Given the description of an element on the screen output the (x, y) to click on. 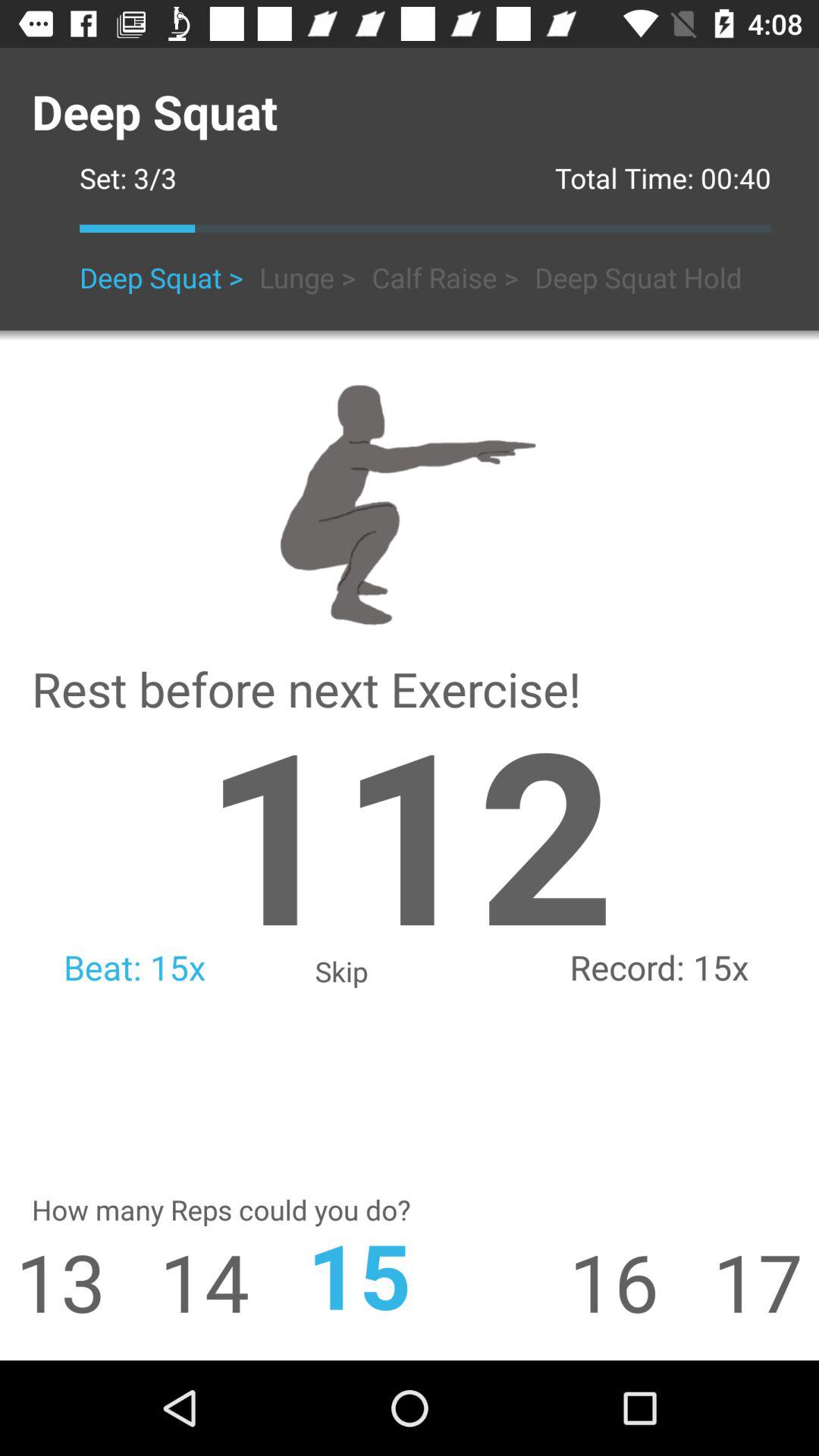
jump until 16 icon (641, 1281)
